Given the description of an element on the screen output the (x, y) to click on. 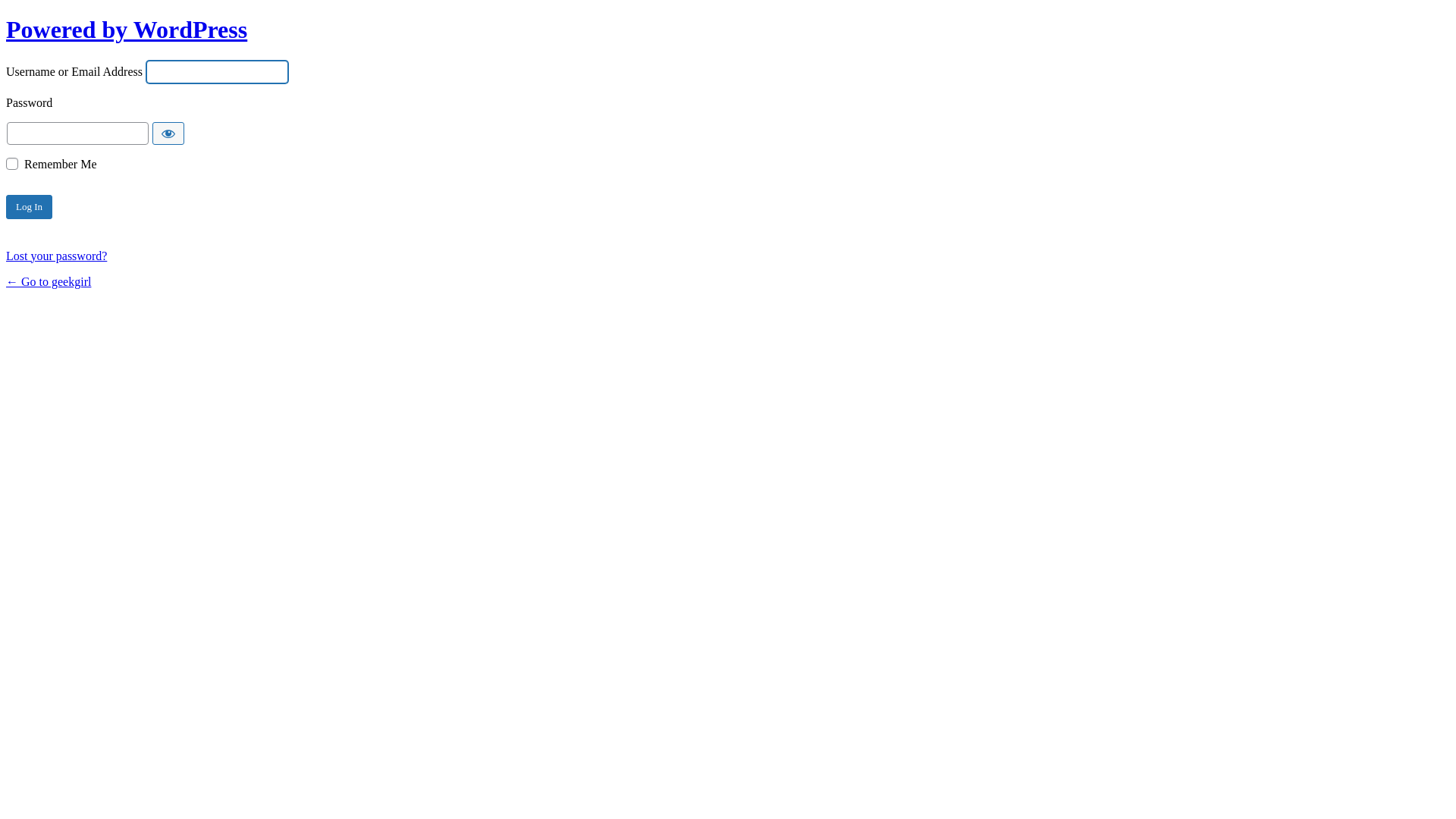
Powered by WordPress Element type: text (126, 29)
Log In Element type: text (29, 206)
Lost your password? Element type: text (56, 255)
